Given the description of an element on the screen output the (x, y) to click on. 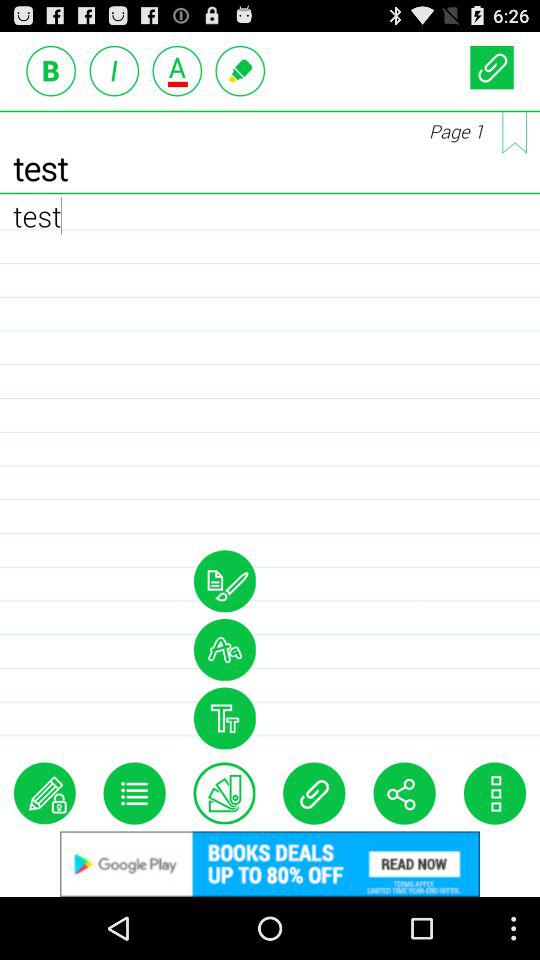
toggle italic text (114, 70)
